Given the description of an element on the screen output the (x, y) to click on. 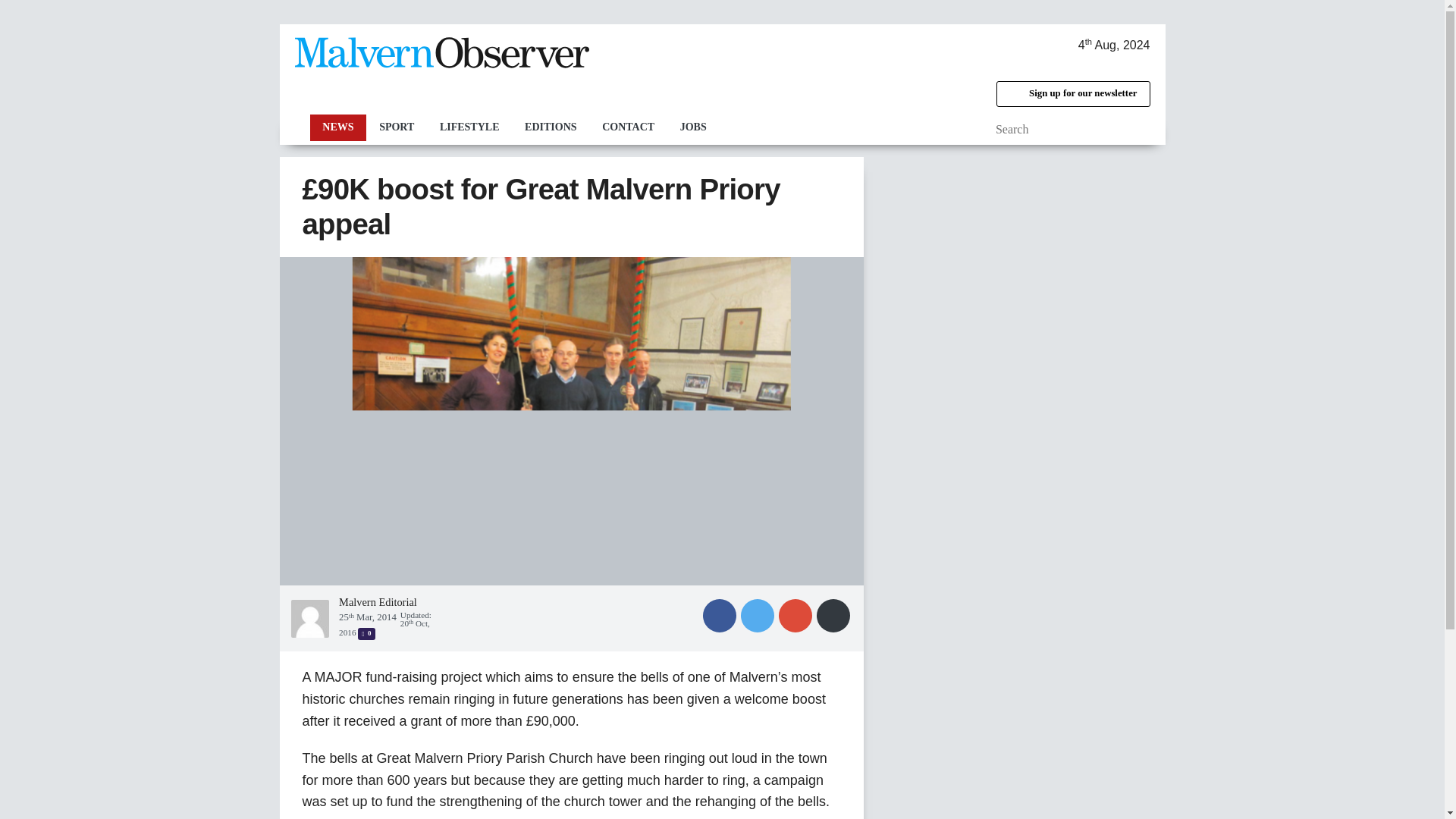
  Sign up for our newsletter (1072, 94)
JOBS (692, 127)
EDITIONS (550, 127)
LIFESTYLE (469, 127)
SPORT (396, 127)
CONTACT (627, 127)
The Malvern Observer (441, 55)
NEWS (337, 127)
